Given the description of an element on the screen output the (x, y) to click on. 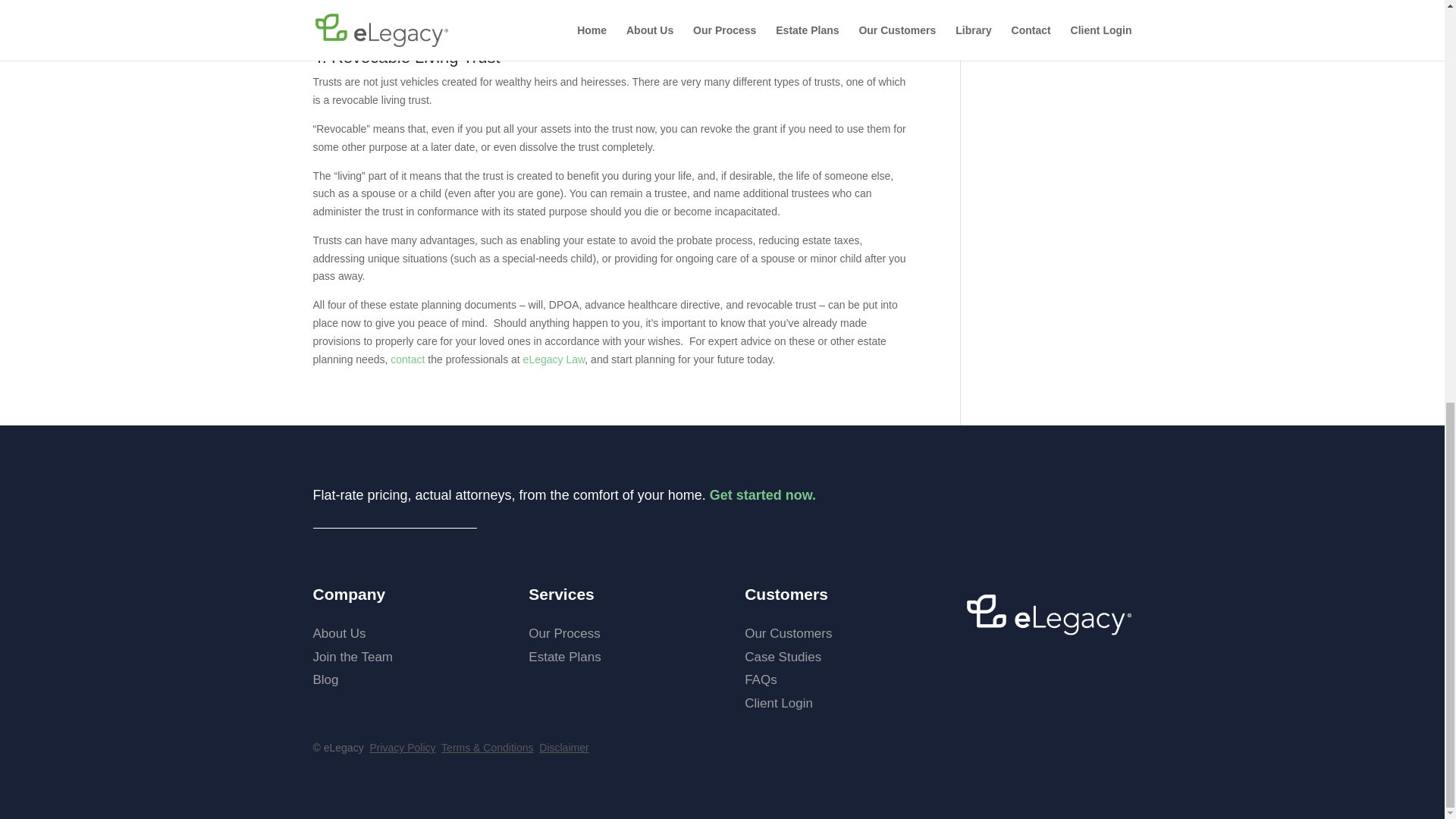
Blog (325, 679)
Estate Plans (563, 657)
Our Process (563, 633)
Our Customers (787, 633)
Join the Team (353, 657)
eLegacy Law (553, 358)
FAQs (760, 679)
Client Login (778, 703)
Privacy Policy (402, 747)
Case Studies (782, 657)
About Us (339, 633)
Get started now. (762, 494)
contact (407, 358)
